Given the description of an element on the screen output the (x, y) to click on. 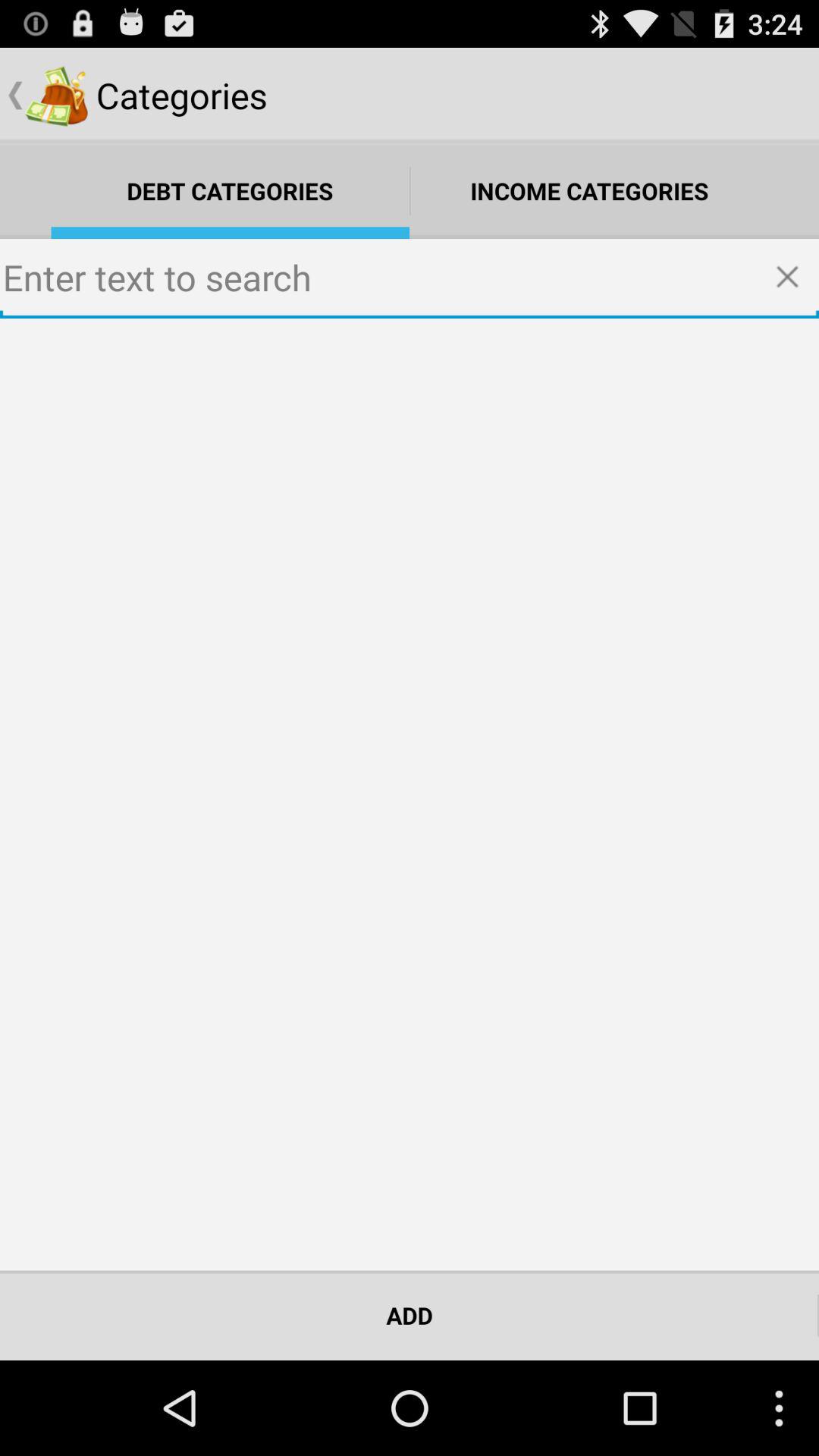
delete text (792, 278)
